Given the description of an element on the screen output the (x, y) to click on. 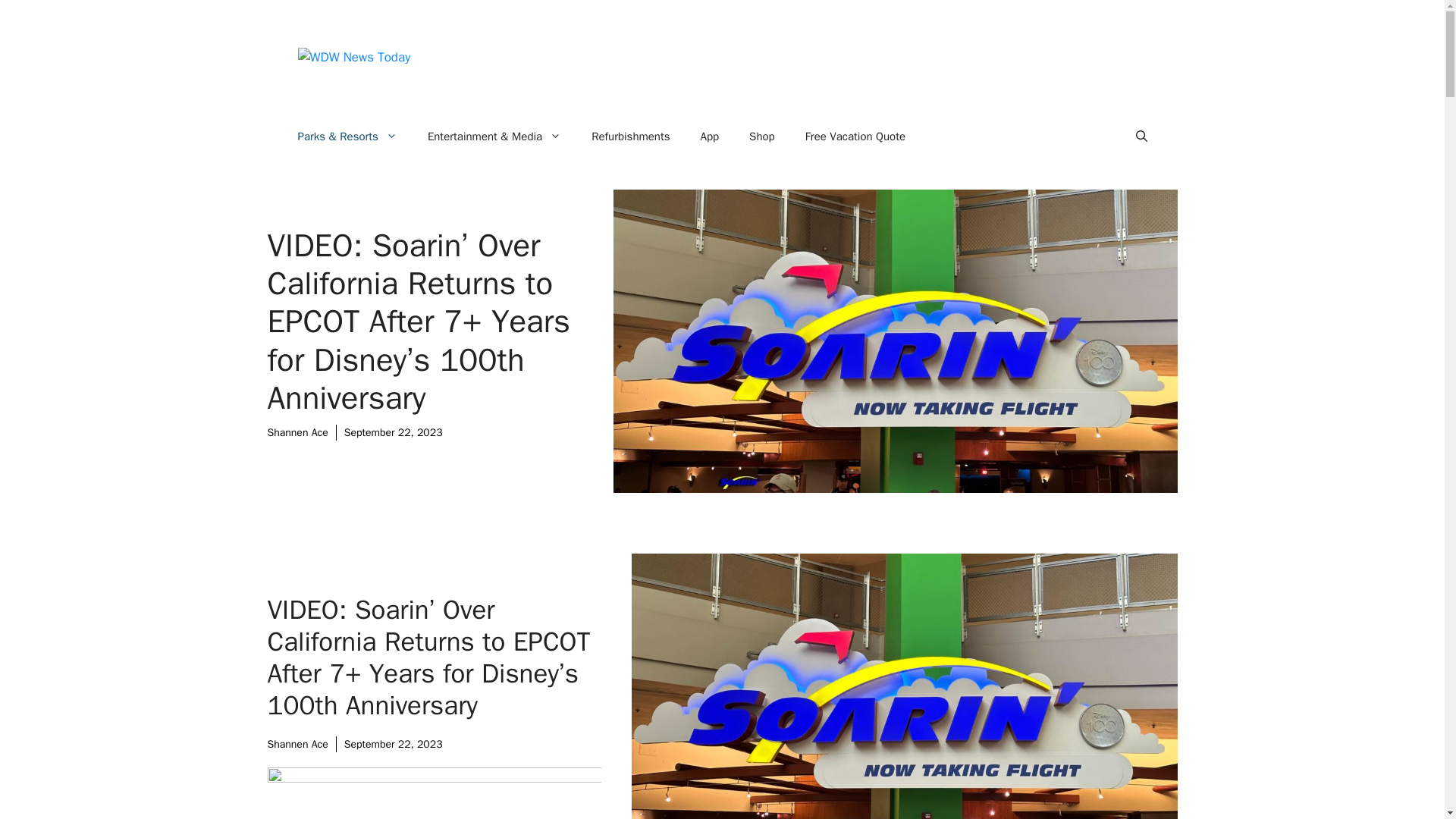
App (710, 135)
Shop (761, 135)
Refurbishments (630, 135)
Free Vacation Quote (855, 135)
